Given the description of an element on the screen output the (x, y) to click on. 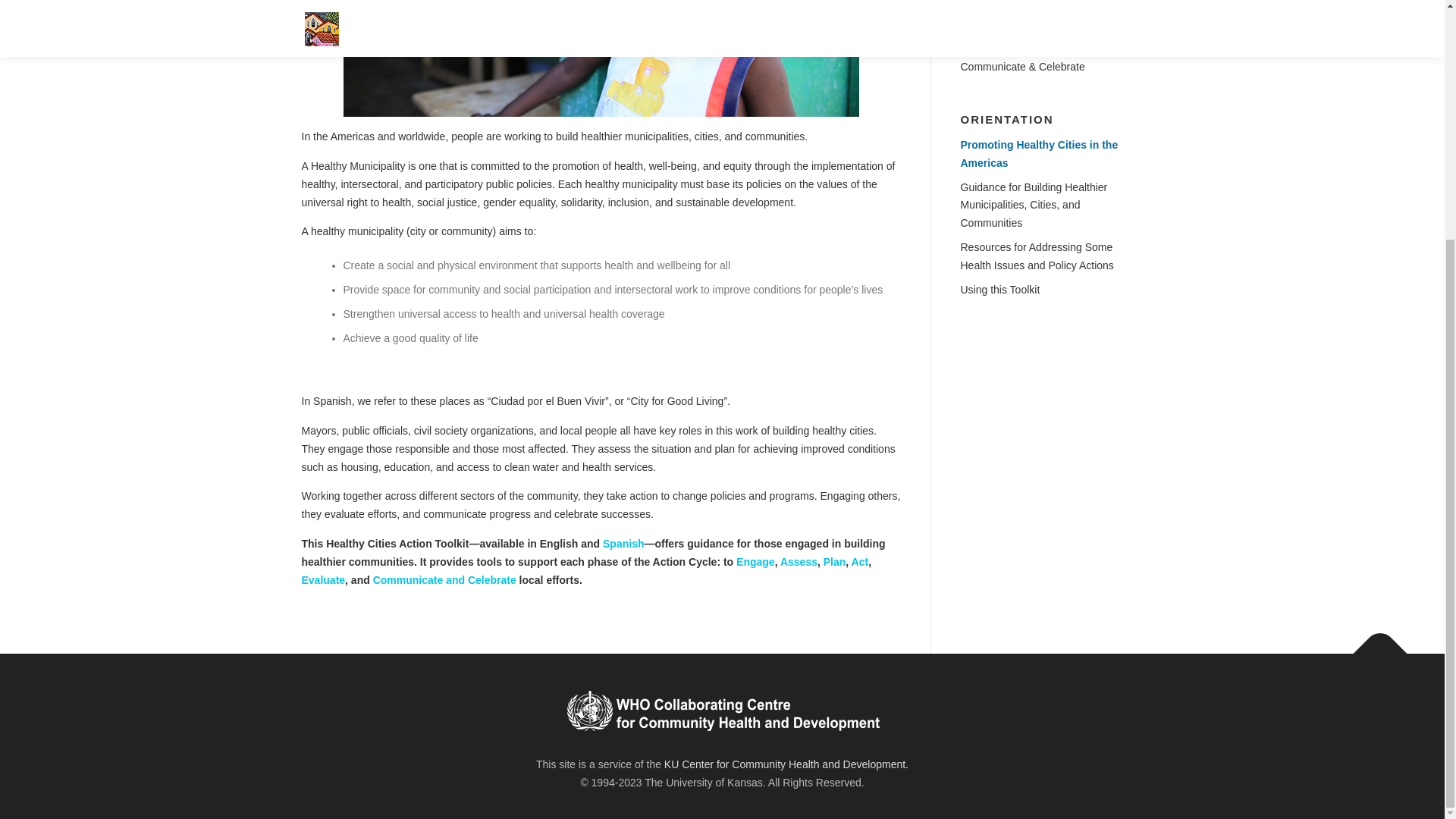
Engage (755, 562)
Plan (834, 562)
Promoting Healthy Cities in the Americas (1038, 153)
Act (967, 19)
KU Center for Community Health and Development. (785, 764)
Back To Top (1372, 646)
Using this Toolkit (999, 289)
Evaluate (323, 580)
Spanish (622, 543)
Act (860, 562)
Evaluate (980, 42)
Assess (798, 562)
